Given the description of an element on the screen output the (x, y) to click on. 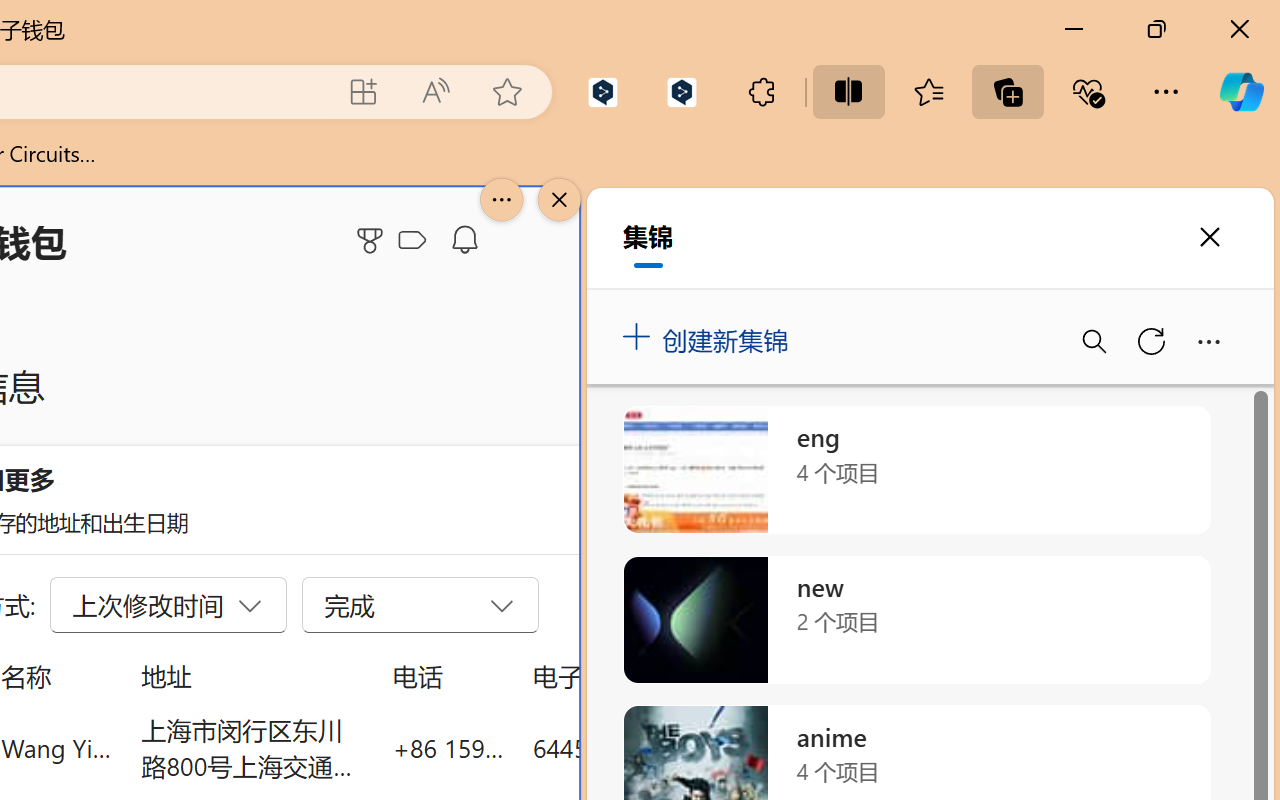
644553698@qq.com (644, 747)
